Given the description of an element on the screen output the (x, y) to click on. 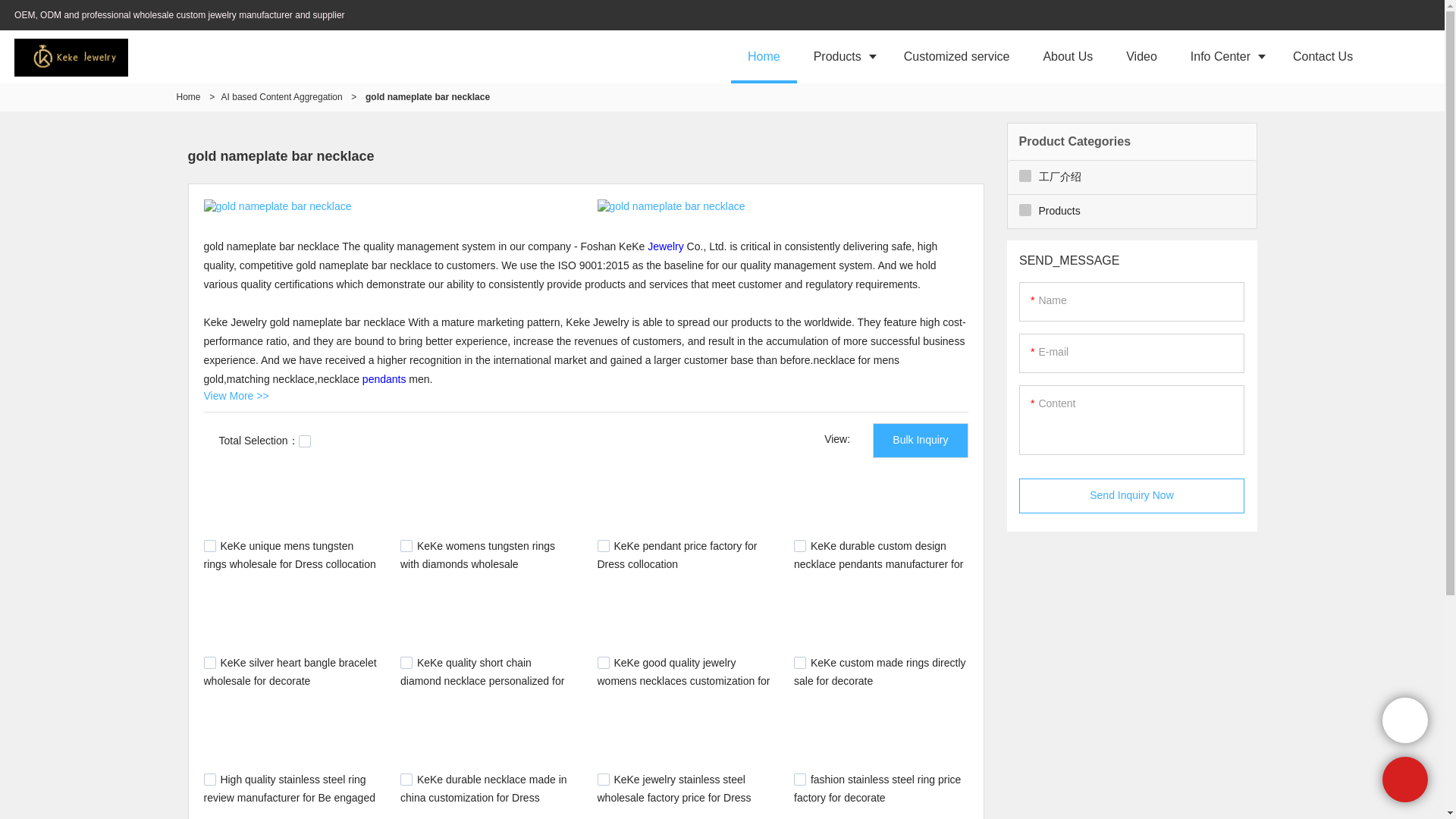
on (304, 440)
Home (763, 56)
3958 (406, 779)
4624 (209, 662)
4732 (799, 545)
4586 (799, 662)
4629 (406, 662)
3793 (799, 779)
4608 (603, 662)
KeKe custom made rings directly sale for decorate (879, 671)
4762 (406, 545)
Customized service (956, 56)
